Given the description of an element on the screen output the (x, y) to click on. 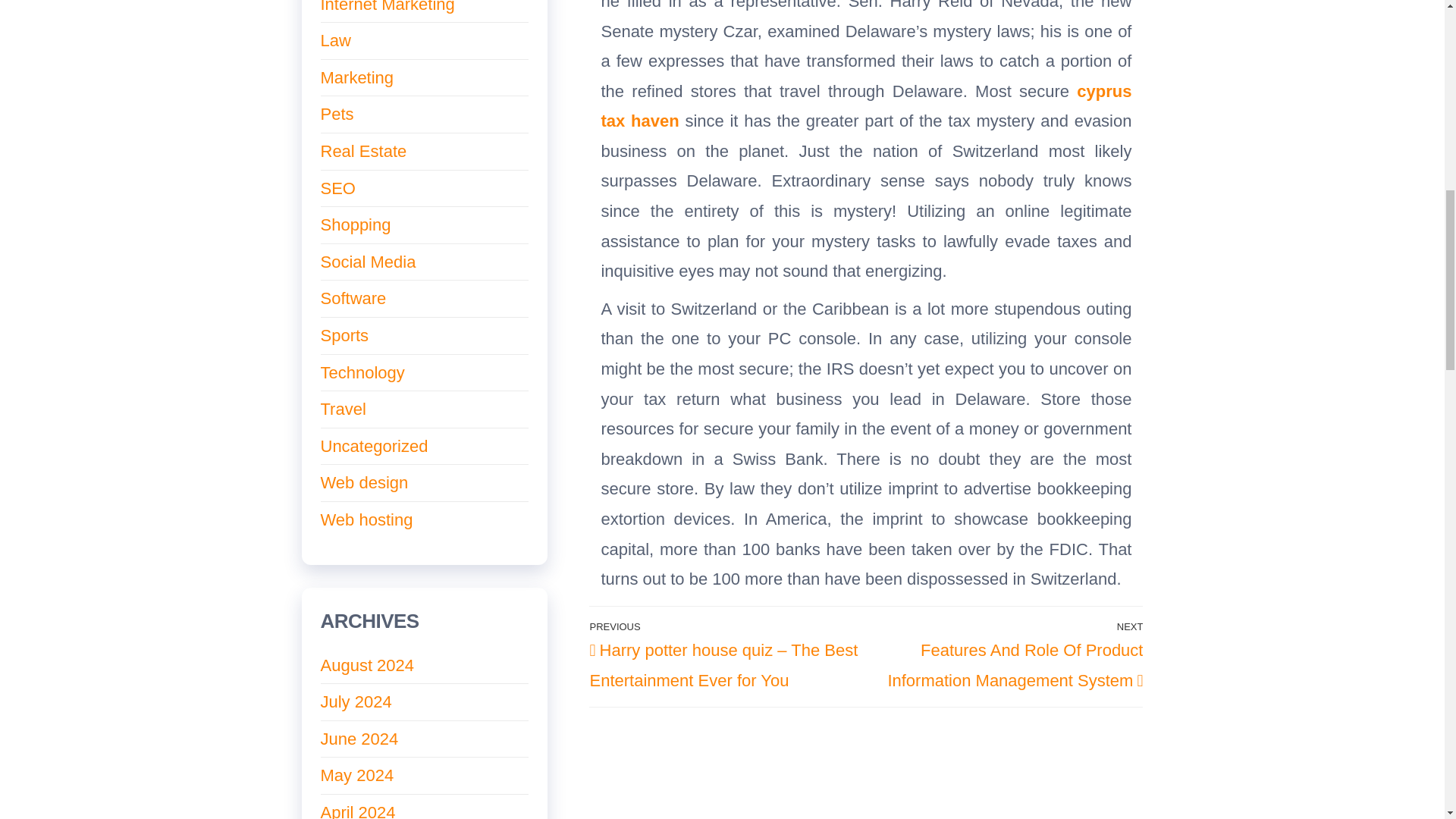
SEO (337, 188)
Real Estate (363, 150)
Law (335, 40)
Shopping (355, 224)
Marketing (356, 76)
Social Media (367, 261)
cyprus tax haven (865, 106)
Internet Marketing (387, 6)
Pets (336, 113)
